Given the description of an element on the screen output the (x, y) to click on. 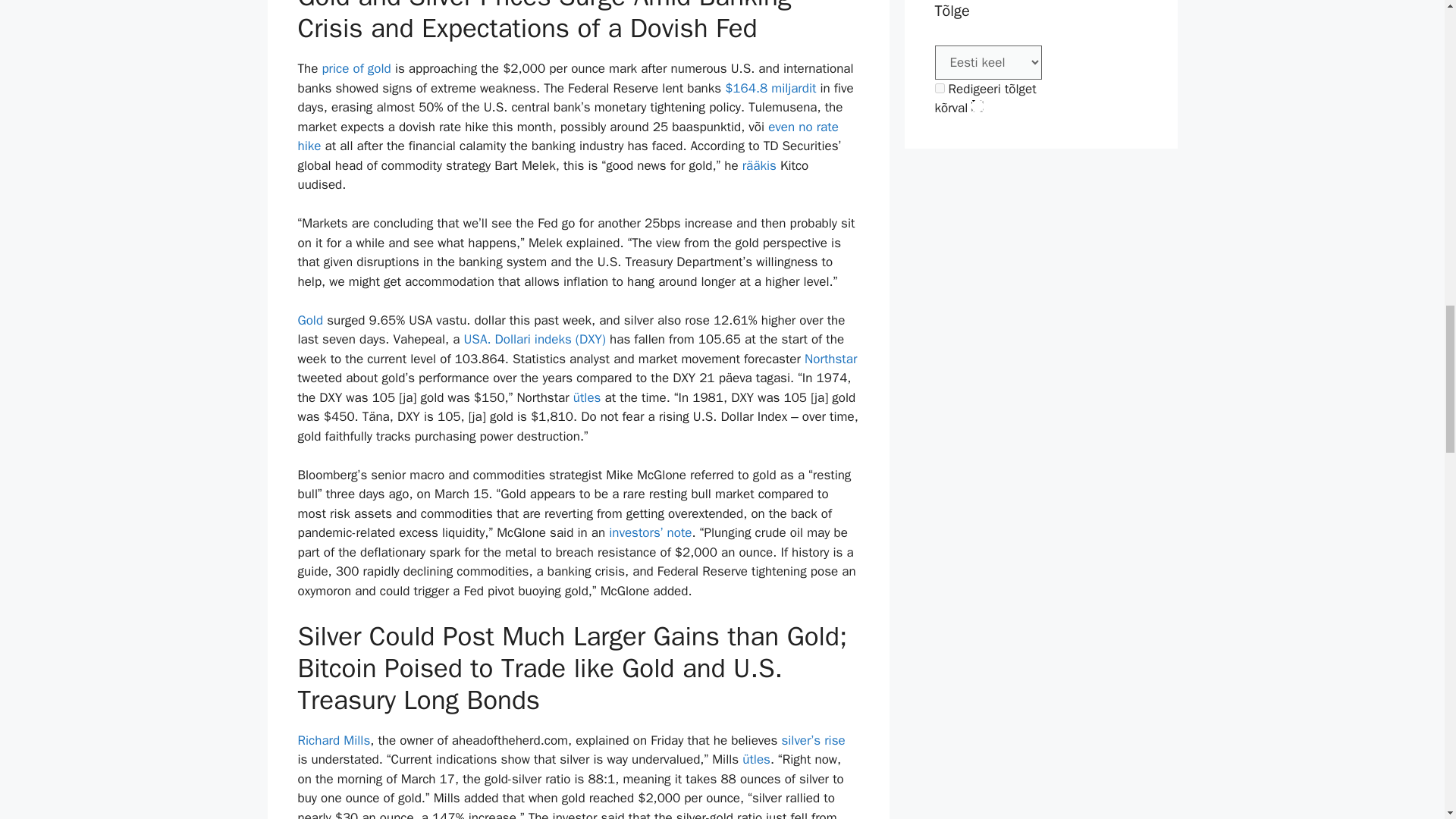
1 (938, 88)
even no rate hike (567, 136)
Northstar (831, 358)
Gold (310, 320)
price of gold (355, 68)
Richard Mills (333, 740)
